Given the description of an element on the screen output the (x, y) to click on. 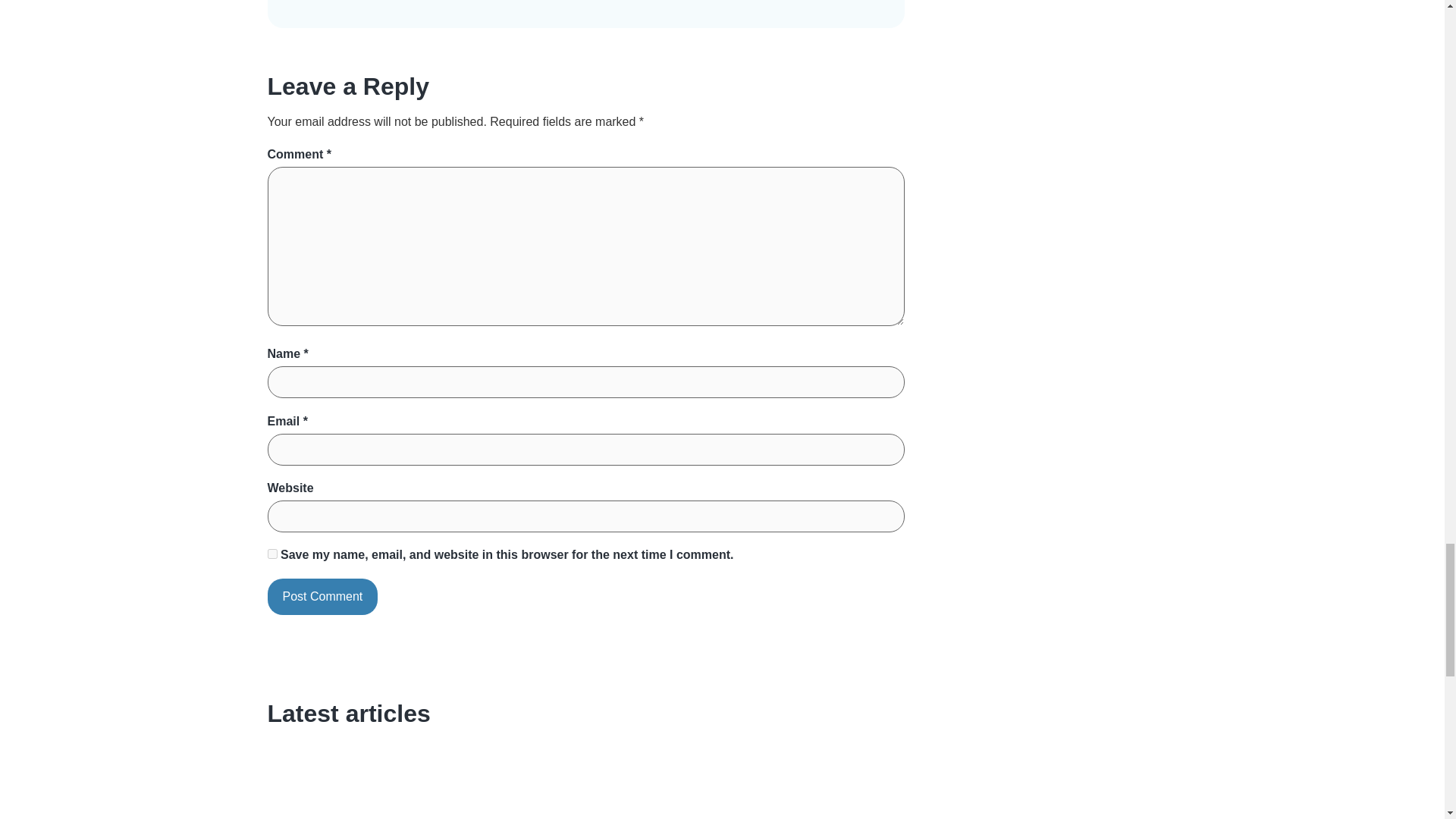
Post Comment (321, 596)
yes (271, 553)
Post Comment (321, 596)
